Given the description of an element on the screen output the (x, y) to click on. 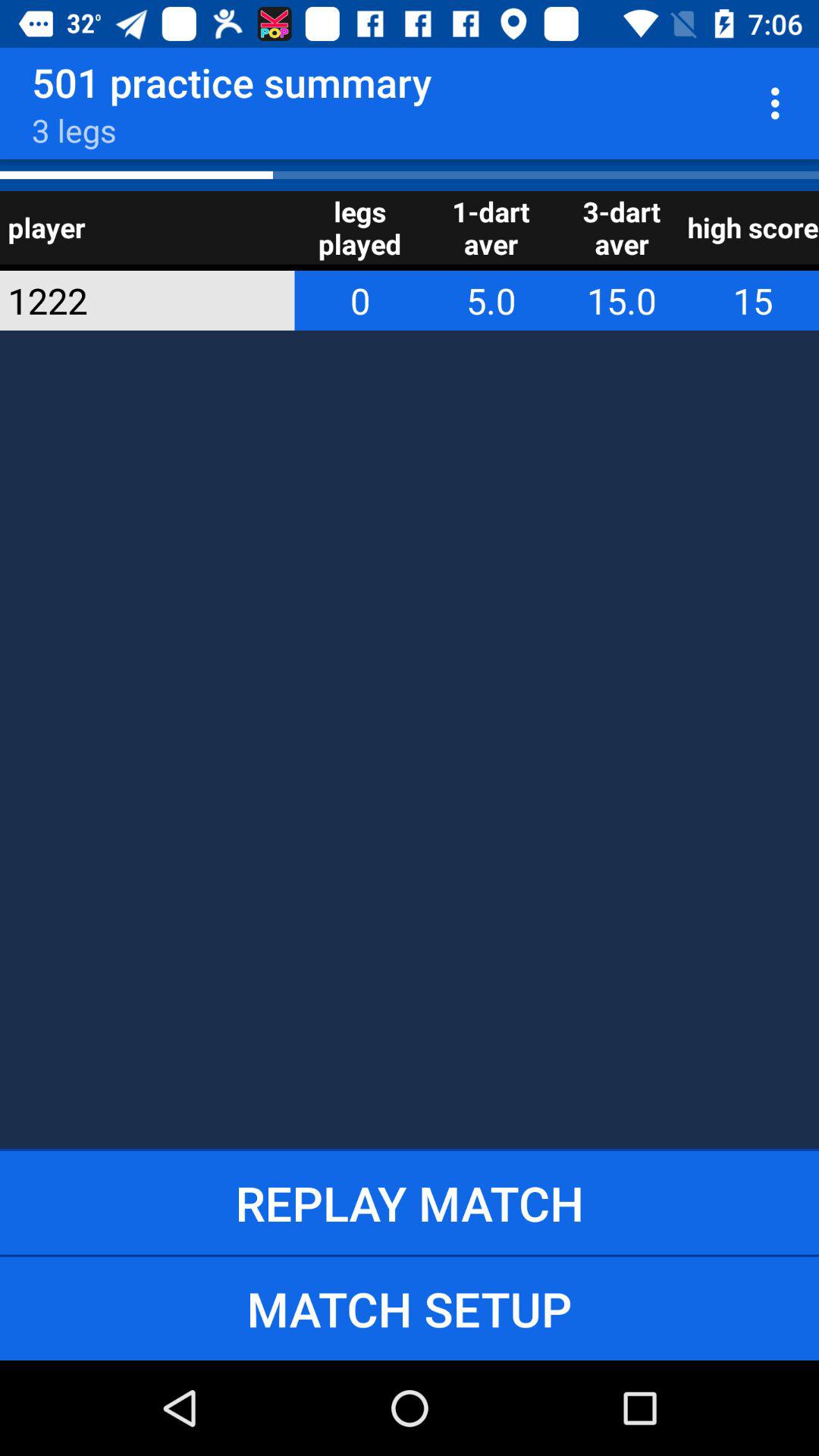
choose item to the left of the legs
played icon (126, 300)
